Given the description of an element on the screen output the (x, y) to click on. 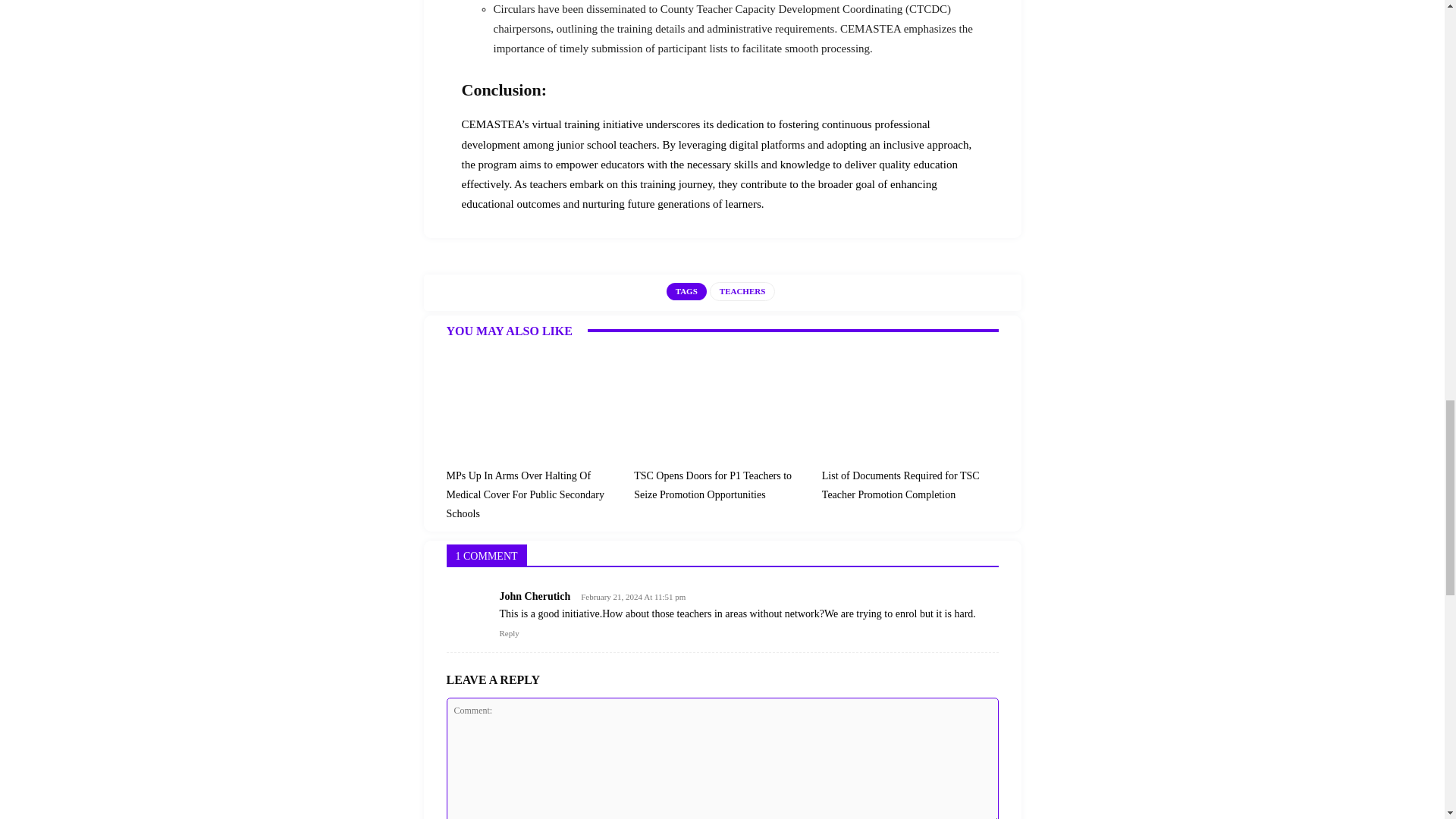
TEACHERS (743, 291)
